Given the description of an element on the screen output the (x, y) to click on. 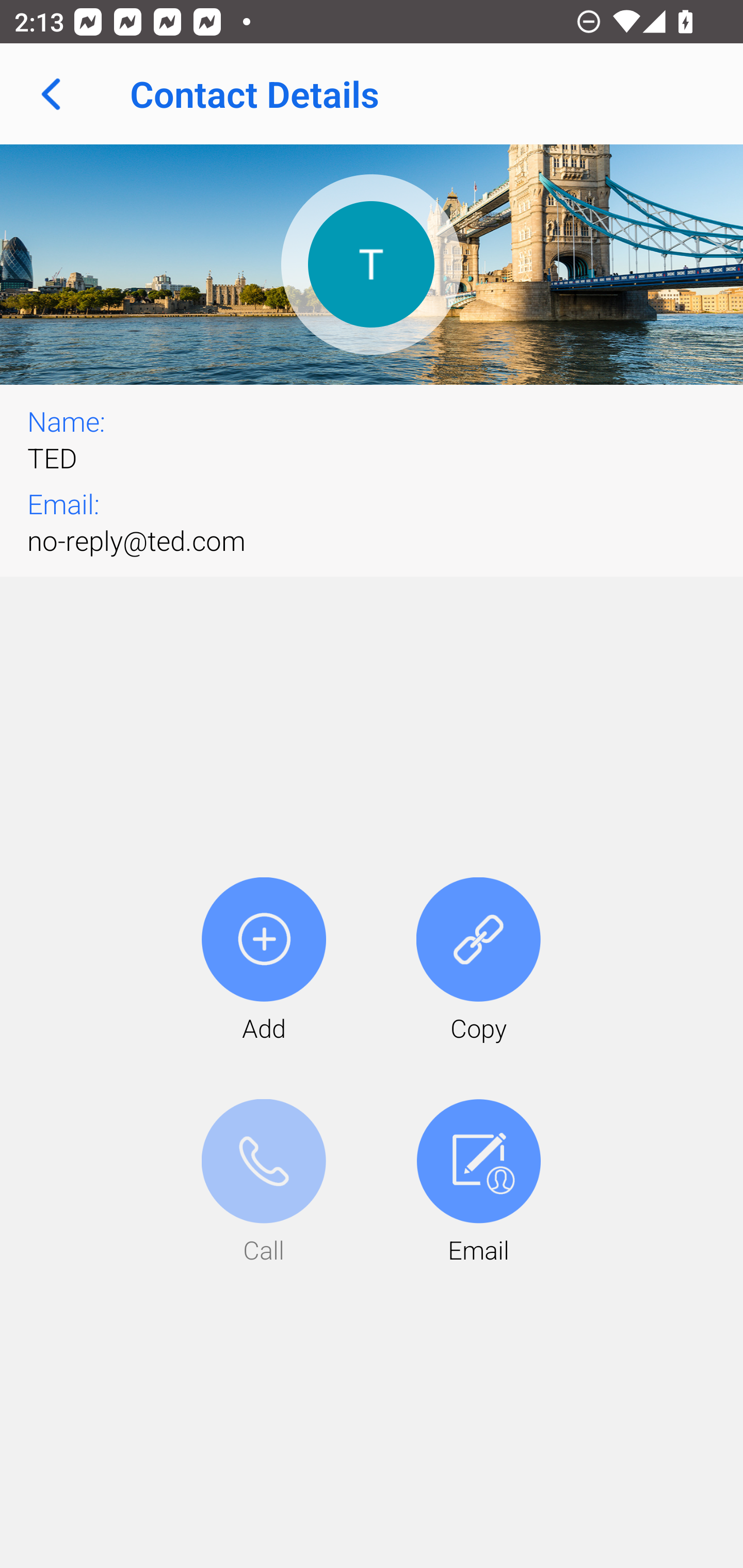
Navigate up (50, 93)
Add (264, 961)
Copy (478, 961)
Call (264, 1182)
Email (478, 1182)
